Given the description of an element on the screen output the (x, y) to click on. 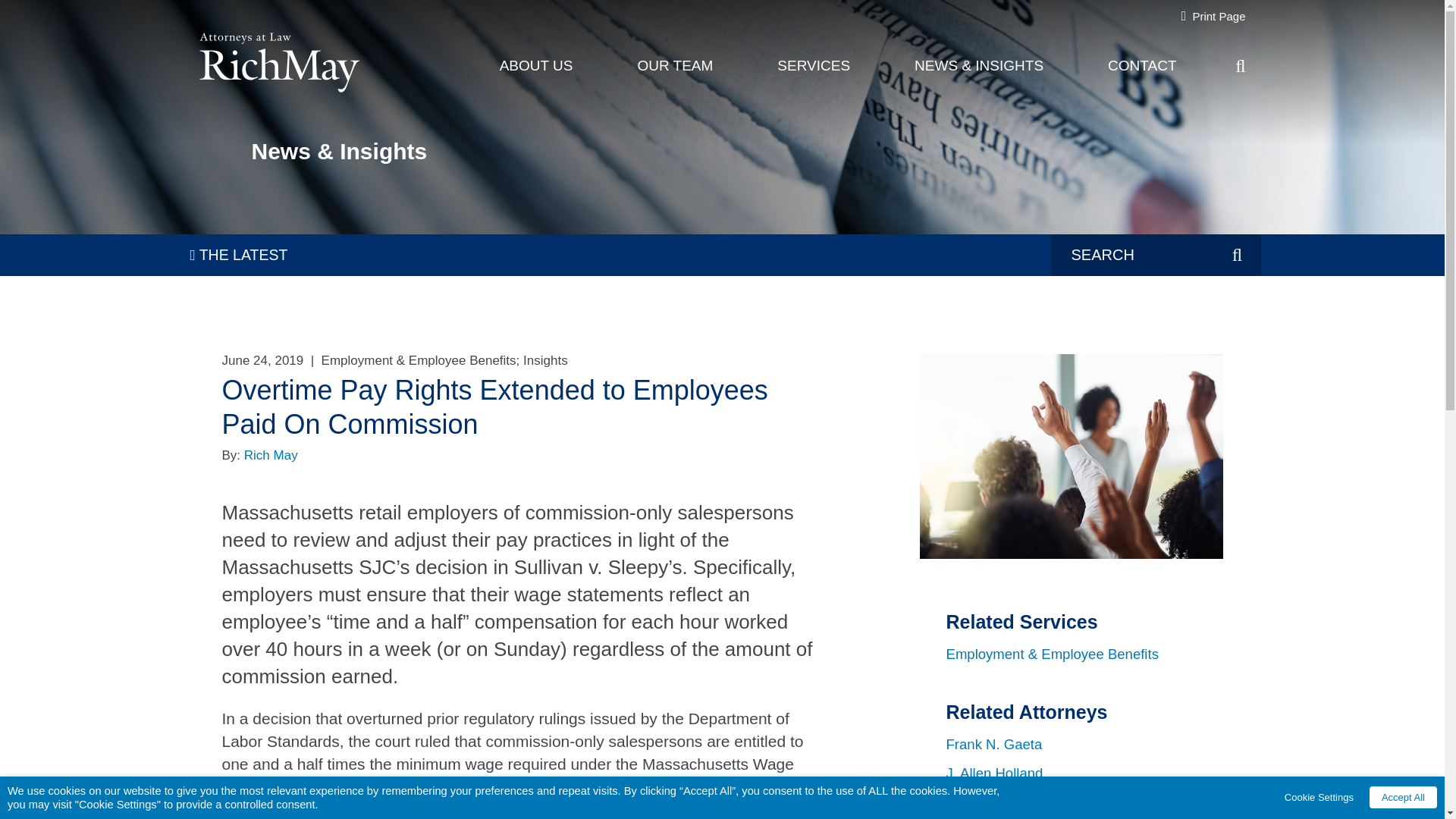
OUR TEAM (674, 62)
Posts by Rich May (271, 454)
ABOUT US (536, 62)
Rich May, P.C. (278, 40)
SERVICES (813, 62)
